Given the description of an element on the screen output the (x, y) to click on. 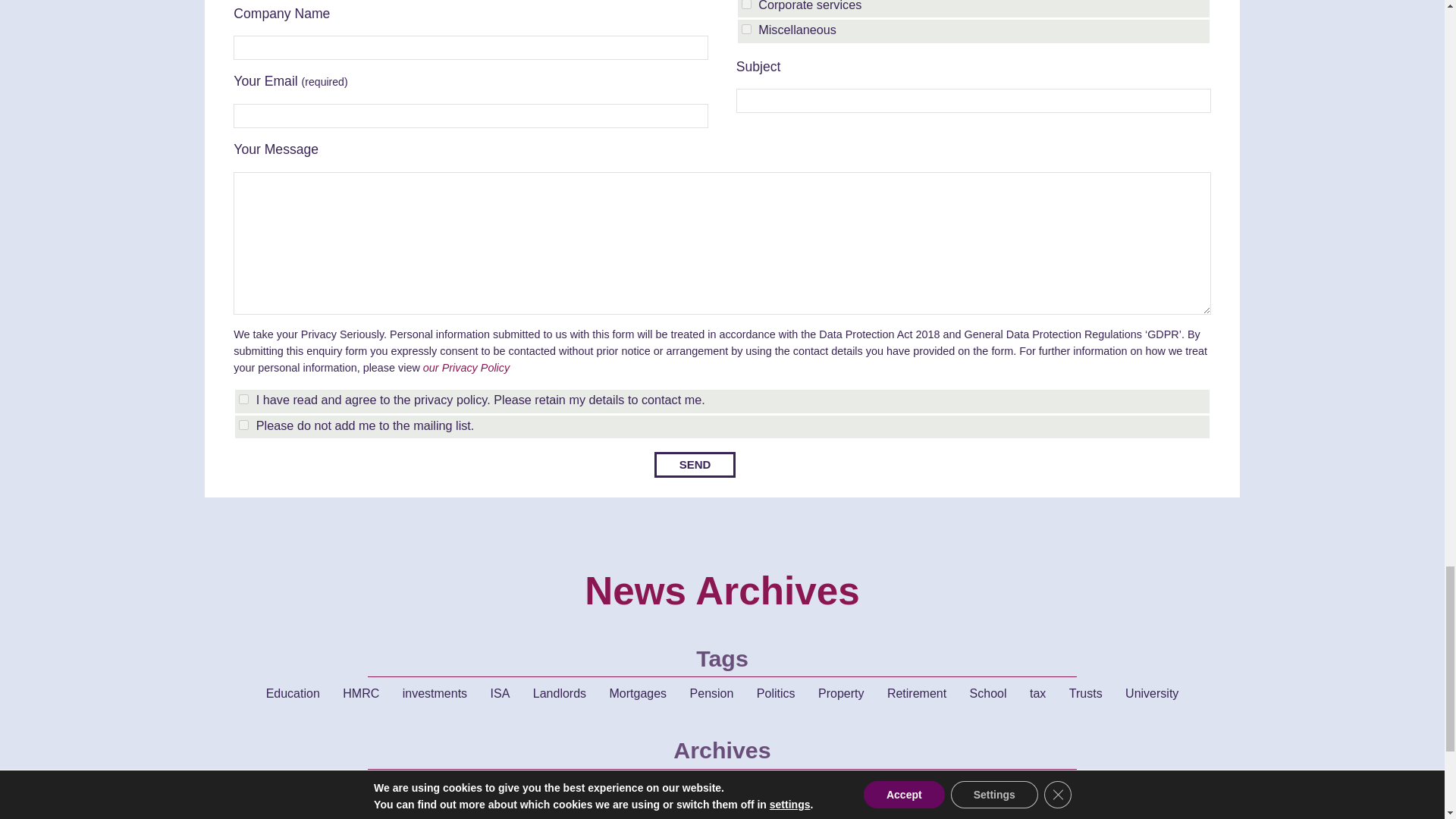
School (988, 693)
Please do not add me to the mailing list. (243, 424)
Miscellaneous (746, 29)
2017 (847, 786)
Mortgages (638, 693)
ISA (500, 693)
2021 (646, 786)
Education (293, 693)
2018 (797, 786)
Send (694, 465)
Trusts (1085, 693)
Corporate services (746, 4)
2020 (697, 786)
Retirement (916, 693)
